Given the description of an element on the screen output the (x, y) to click on. 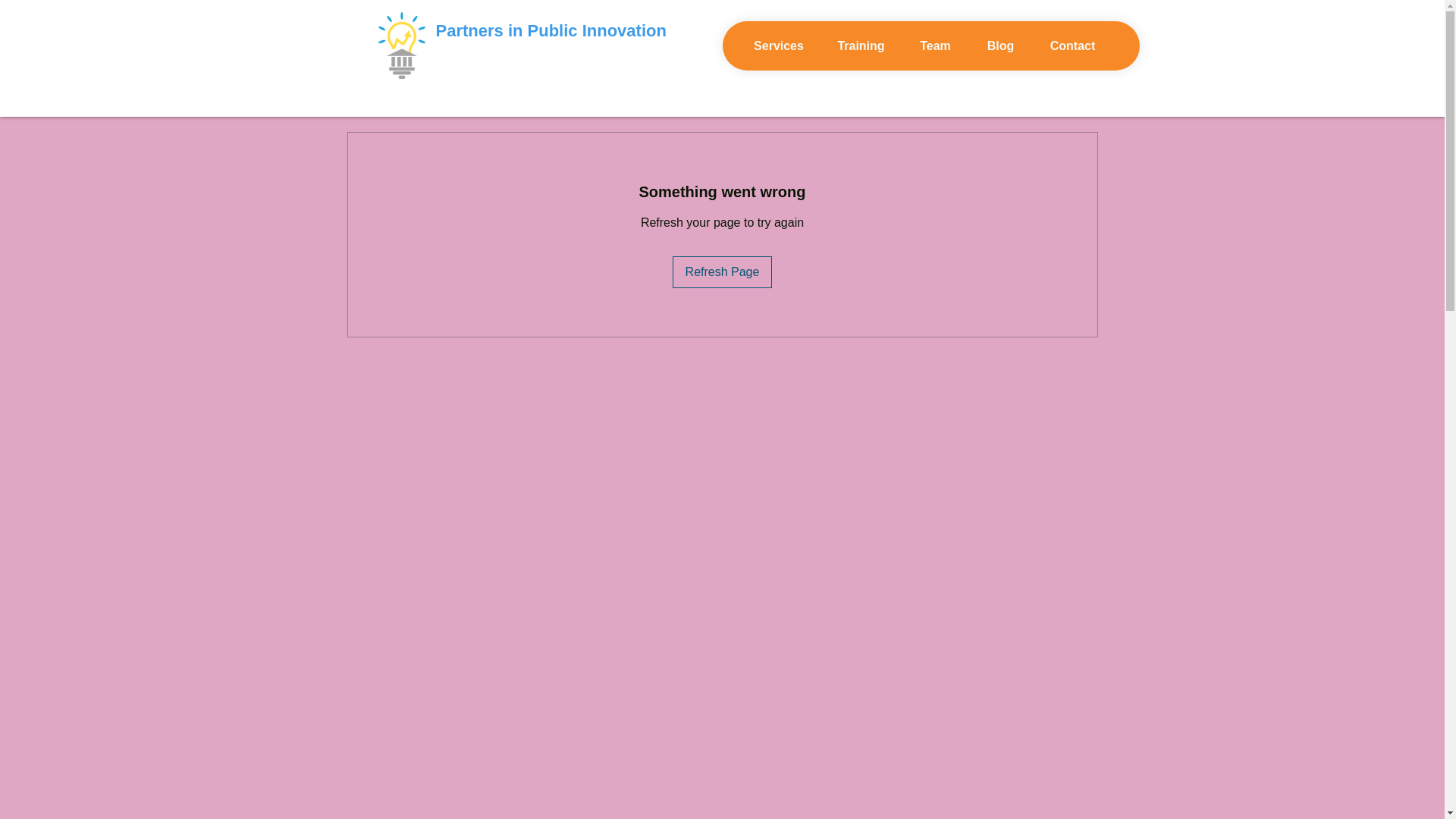
Blog (1000, 45)
Refresh Page (722, 272)
Services (777, 45)
Team (935, 45)
Partners in Public Innovation (550, 30)
Contact (1072, 45)
Training (861, 45)
